Given the description of an element on the screen output the (x, y) to click on. 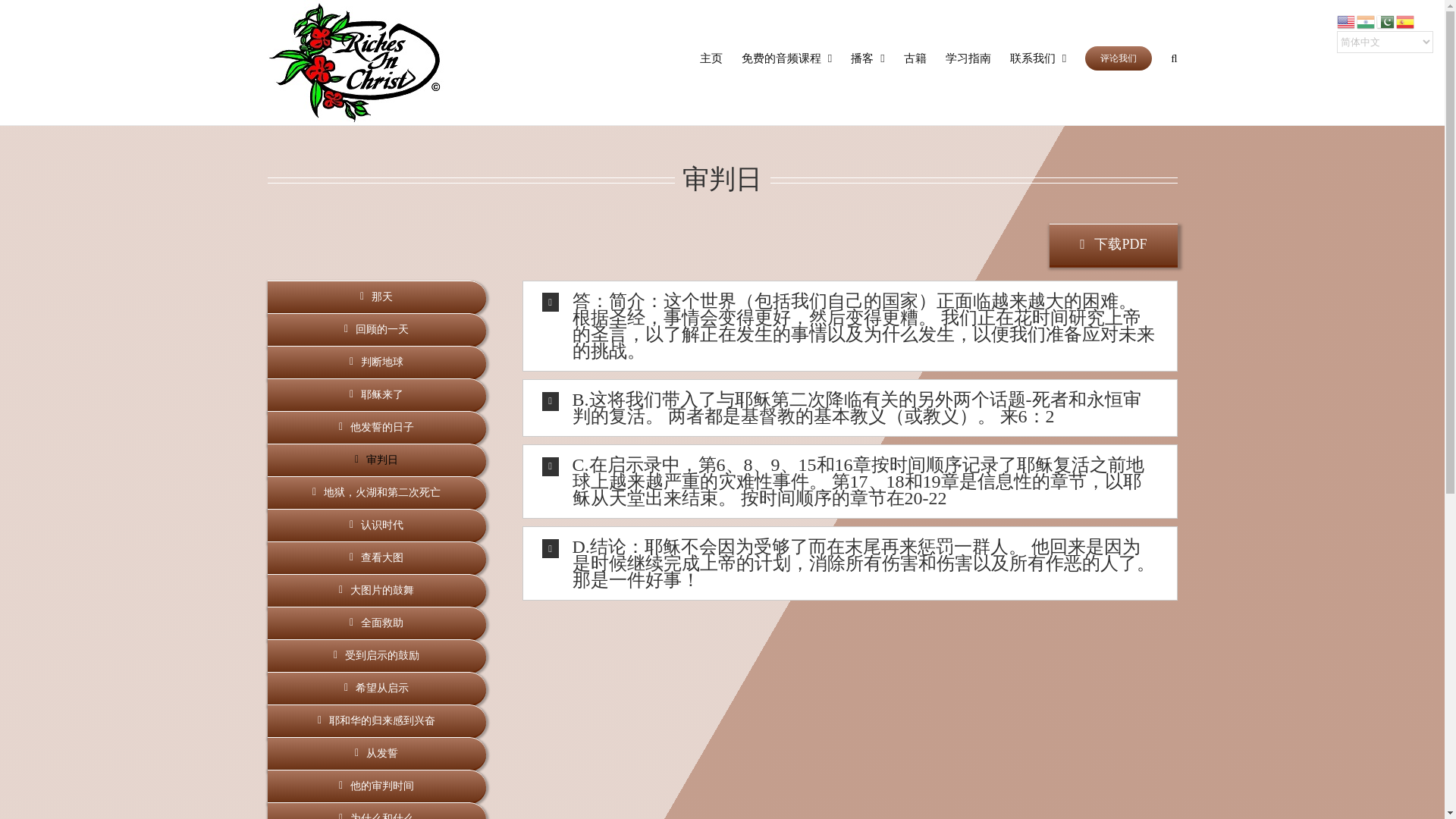
English (1346, 20)
